Given the description of an element on the screen output the (x, y) to click on. 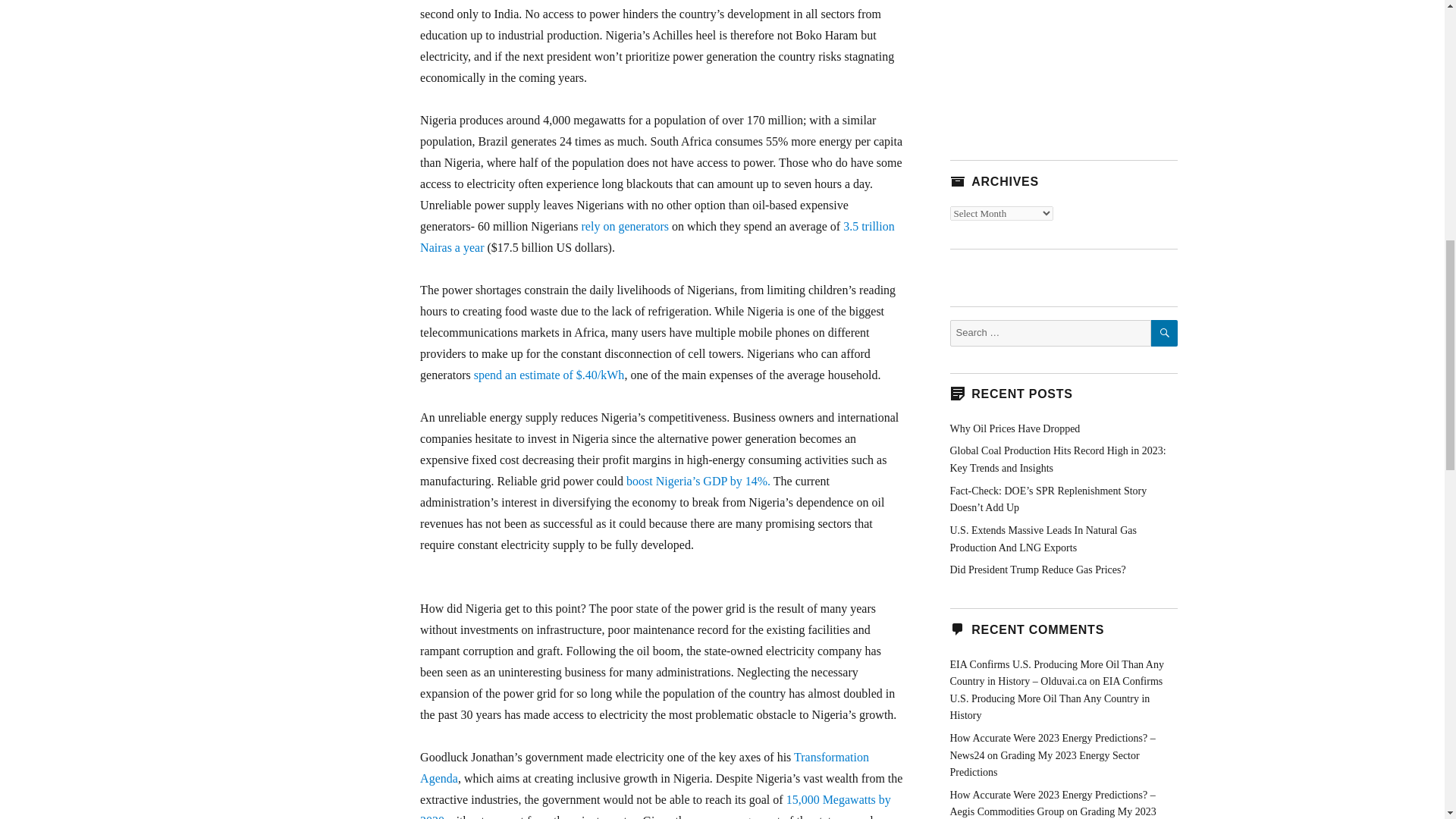
Did President Trump Reduce Gas Prices? (1037, 569)
Advertisement (1062, 63)
SEARCH (1164, 333)
15,000 Megawatts by 2020 (655, 806)
rely on generators (624, 226)
Why Oil Prices Have Dropped (1014, 428)
3.5 trillion Nairas a year (657, 236)
